Given the description of an element on the screen output the (x, y) to click on. 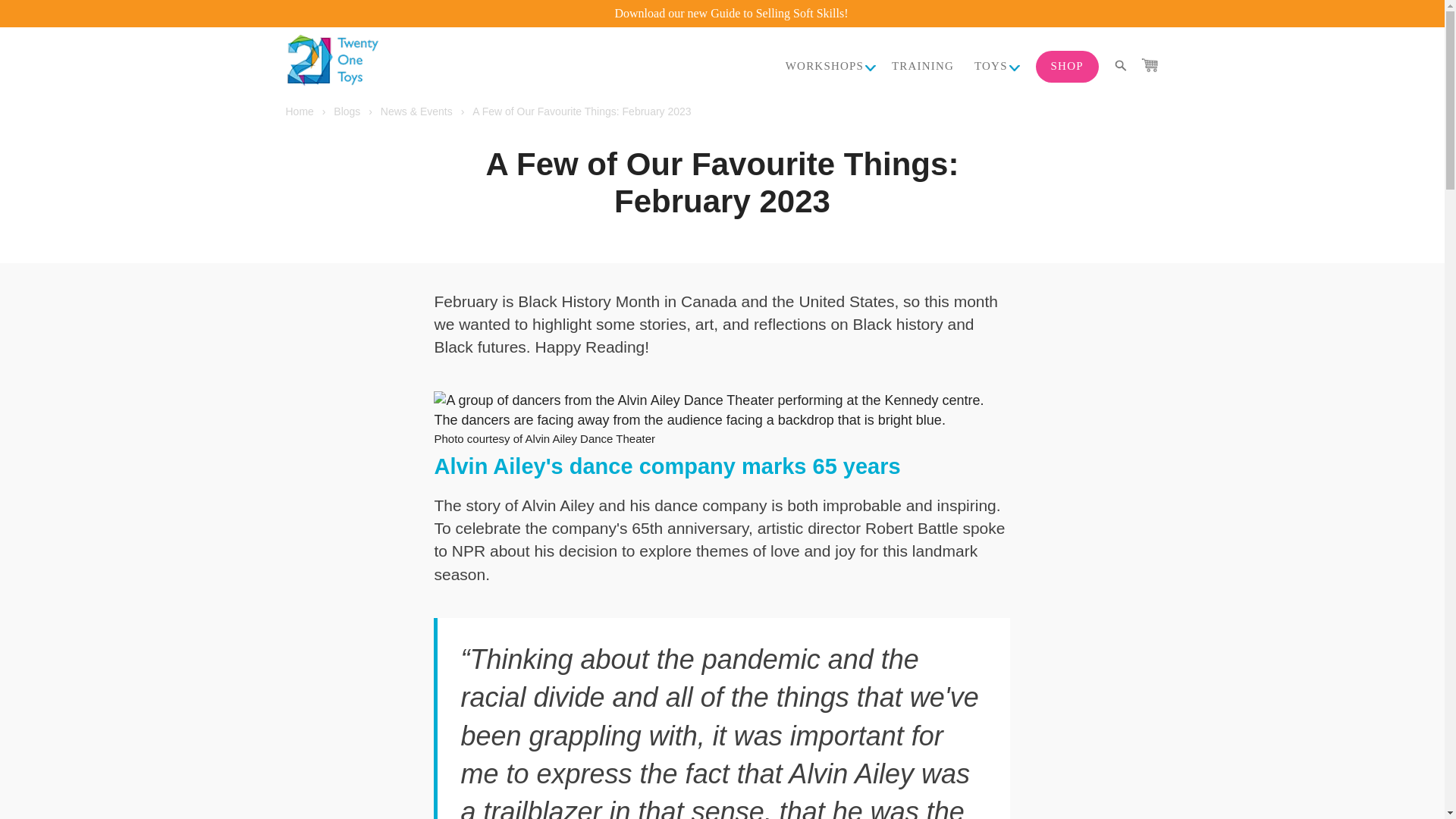
SHOP (1067, 66)
WORKSHOPS (824, 66)
Home (299, 111)
Back to the blog frontpage (346, 111)
Alvin Ailey's dance company marks 65 years (666, 466)
TRAINING (922, 66)
Back to the homepage (299, 111)
Download our new Guide to Selling Soft Skills! (730, 12)
Blogs (346, 111)
TOYS (990, 66)
